Given the description of an element on the screen output the (x, y) to click on. 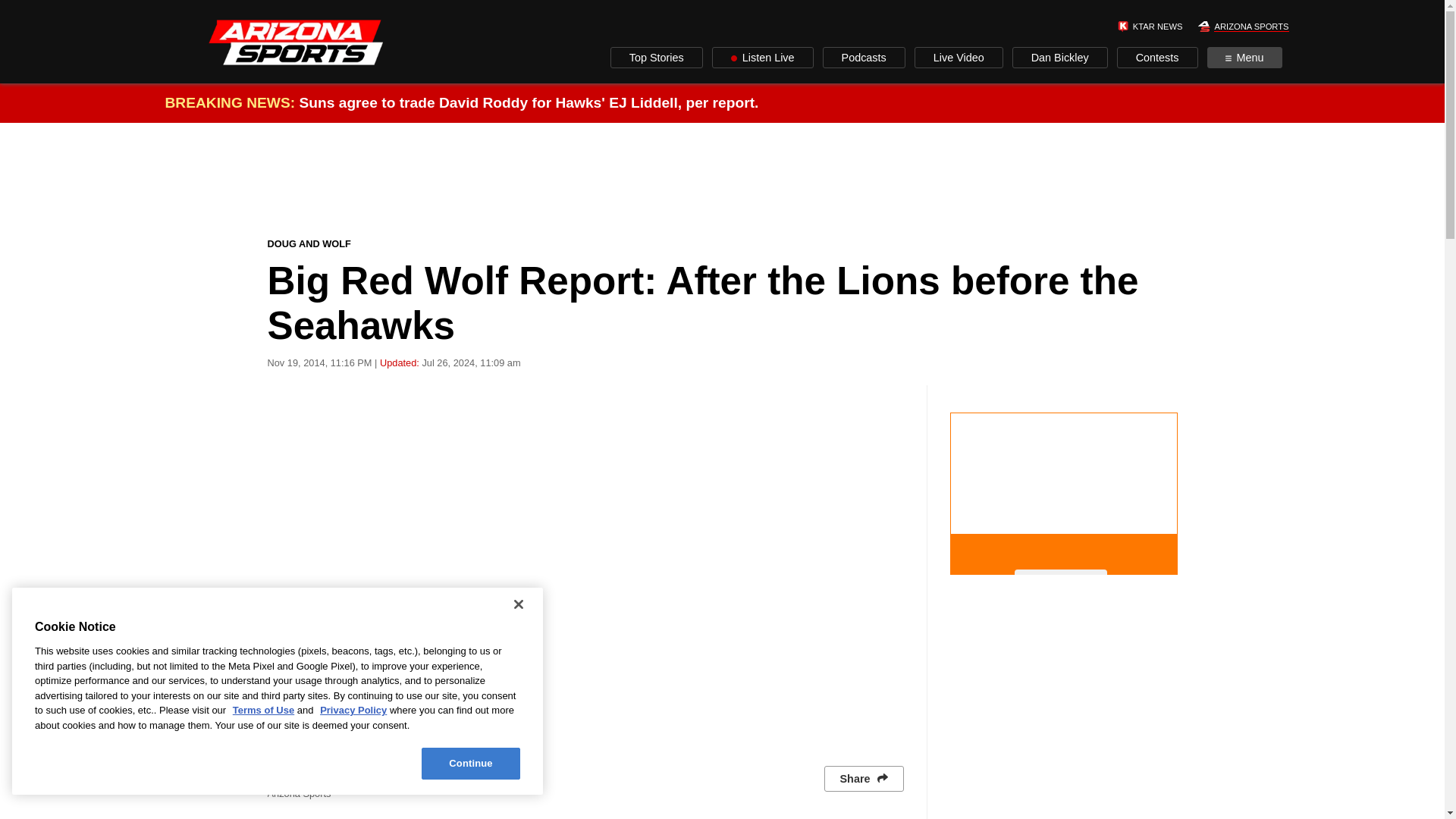
3rd party ad content (1062, 479)
3rd party ad content (722, 179)
